Given the description of an element on the screen output the (x, y) to click on. 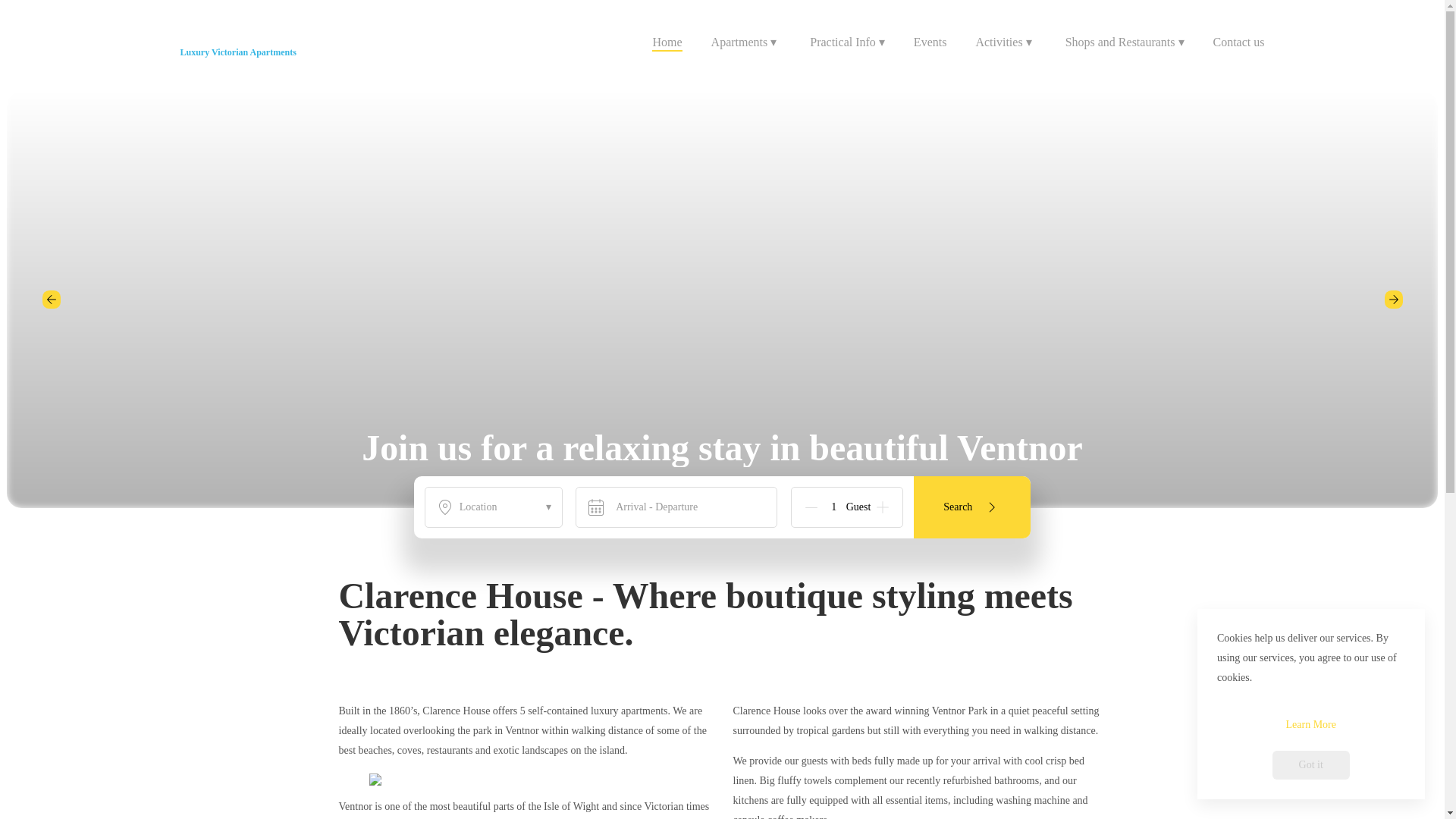
Search (972, 506)
Events (930, 43)
Luxury Victorian Apartments (238, 44)
Got it (1310, 764)
Home (666, 43)
1 (834, 507)
   Luxury Victorian Apartments (238, 52)
Learn More (1310, 724)
Arrival - Departure (676, 506)
Contact us (1238, 43)
